Given the description of an element on the screen output the (x, y) to click on. 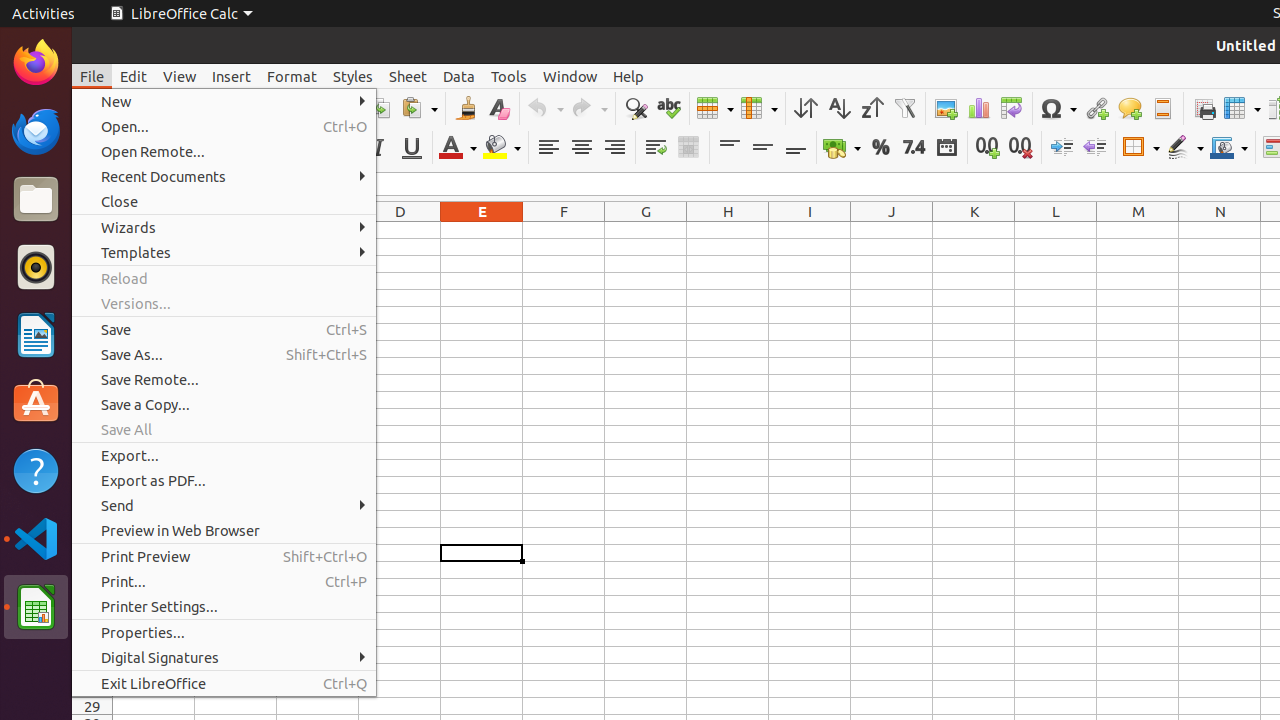
G1 Element type: table-cell (646, 230)
Clone Element type: push-button (465, 108)
Print... Element type: menu-item (224, 581)
Hyperlink Element type: toggle-button (1096, 108)
Redo Element type: push-button (589, 108)
